Given the description of an element on the screen output the (x, y) to click on. 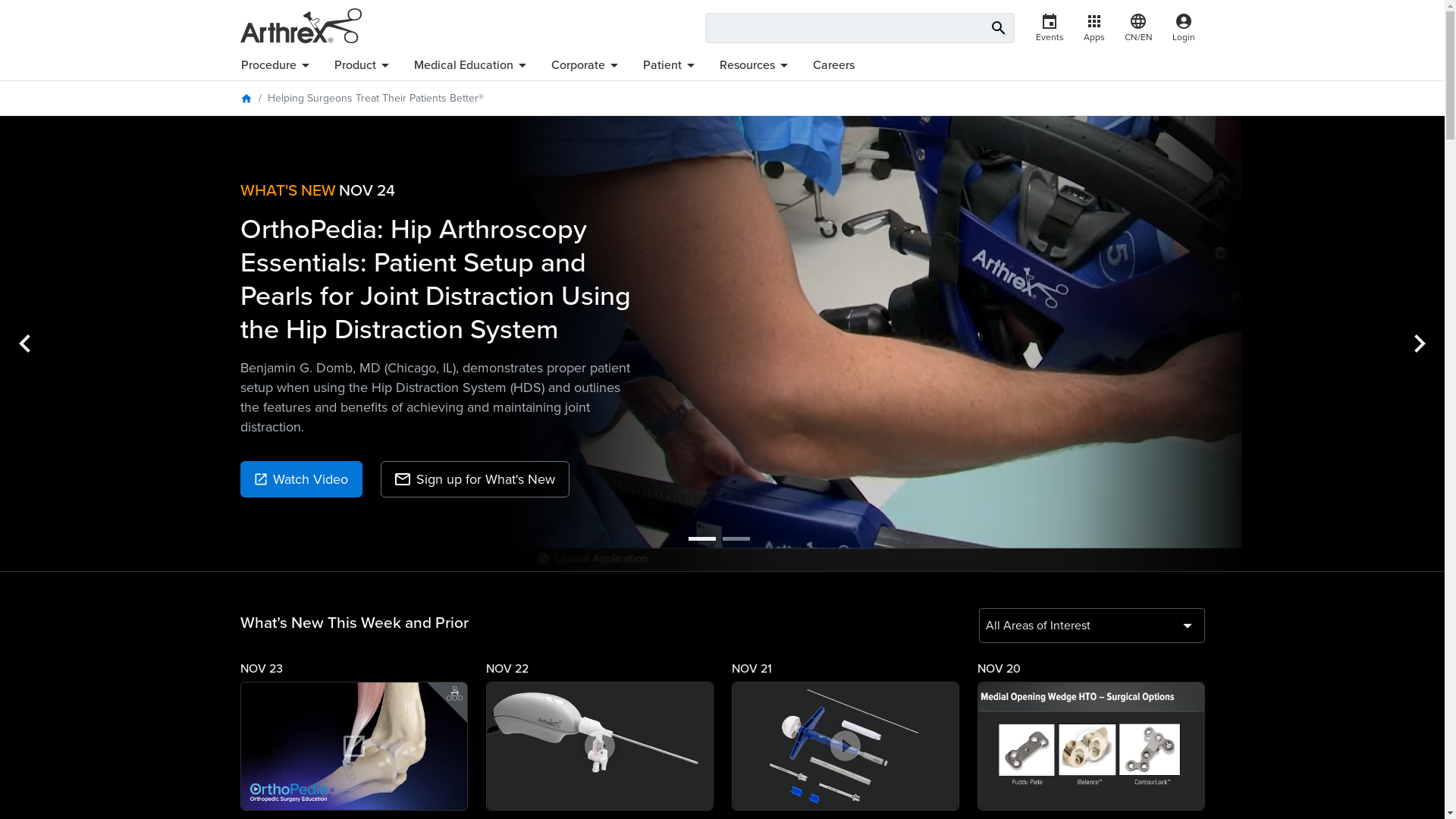
Corporate
arrow_drop_down Element type: text (587, 64)
Product
arrow_drop_down Element type: text (364, 64)
Medical Education
arrow_drop_down Element type: text (471, 64)
apps
Apps Element type: text (1093, 27)
account_circle
Login Element type: text (1182, 27)
language
CN/EN Element type: text (1138, 27)
Careers Element type: text (832, 64)
event
Events Element type: text (1049, 27)
Sign up for What's New Element type: text (474, 479)
chevron_right Element type: text (1419, 343)
chevron_left Element type: text (25, 343)
Patient
arrow_drop_down Element type: text (670, 64)
home Element type: text (245, 98)
Watch Video Element type: text (300, 479)
Resources
arrow_drop_down Element type: text (756, 64)
Procedure
arrow_drop_down Element type: text (281, 64)
